Given the description of an element on the screen output the (x, y) to click on. 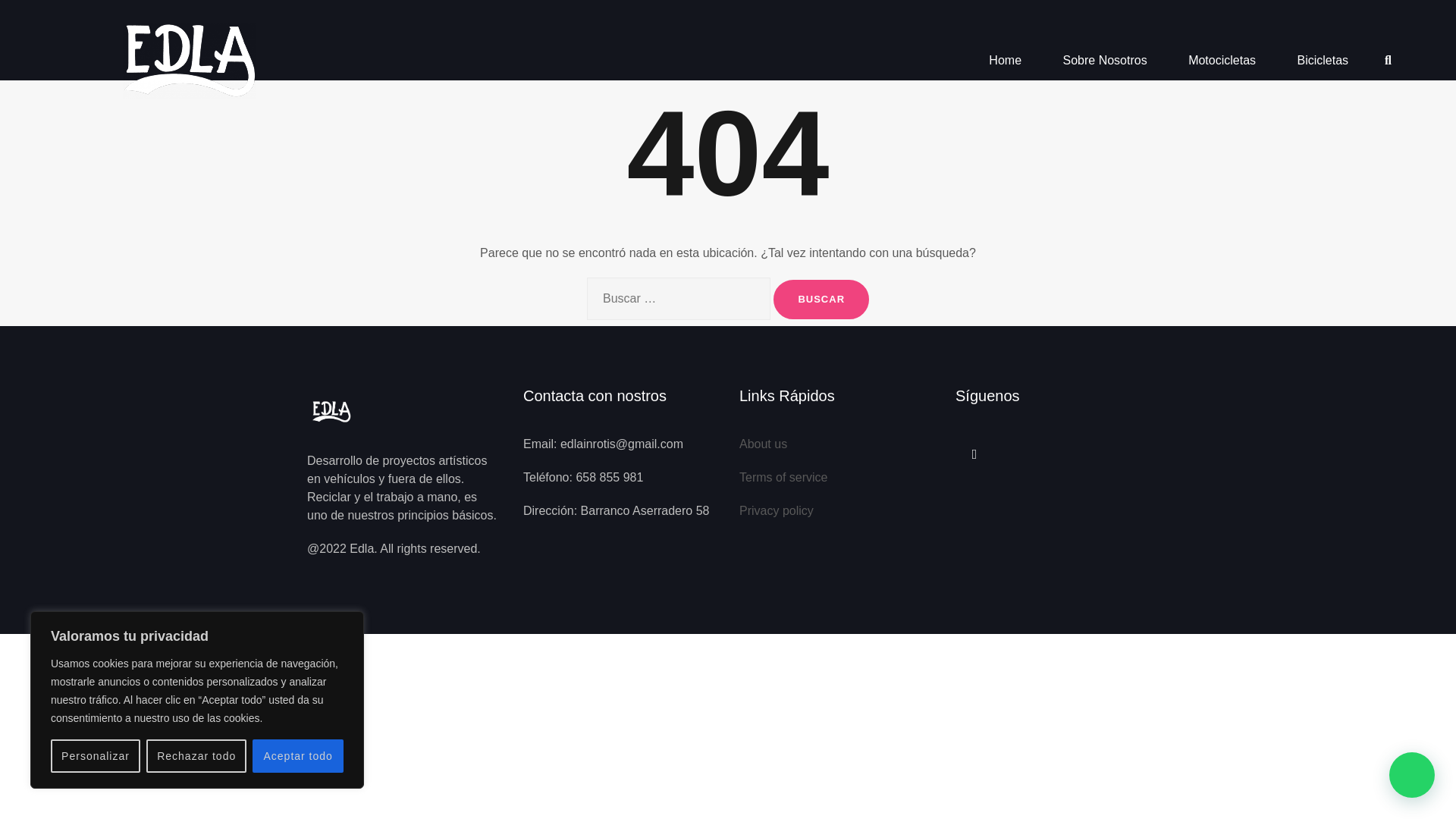
Terms of service (783, 477)
About us (763, 443)
Bicicletas (1322, 60)
Buscar (821, 299)
Buscar (821, 299)
Home (1005, 60)
linkedin (973, 453)
Sobre Nosotros (1104, 60)
Motocicletas (1221, 60)
Buscar (821, 299)
